Given the description of an element on the screen output the (x, y) to click on. 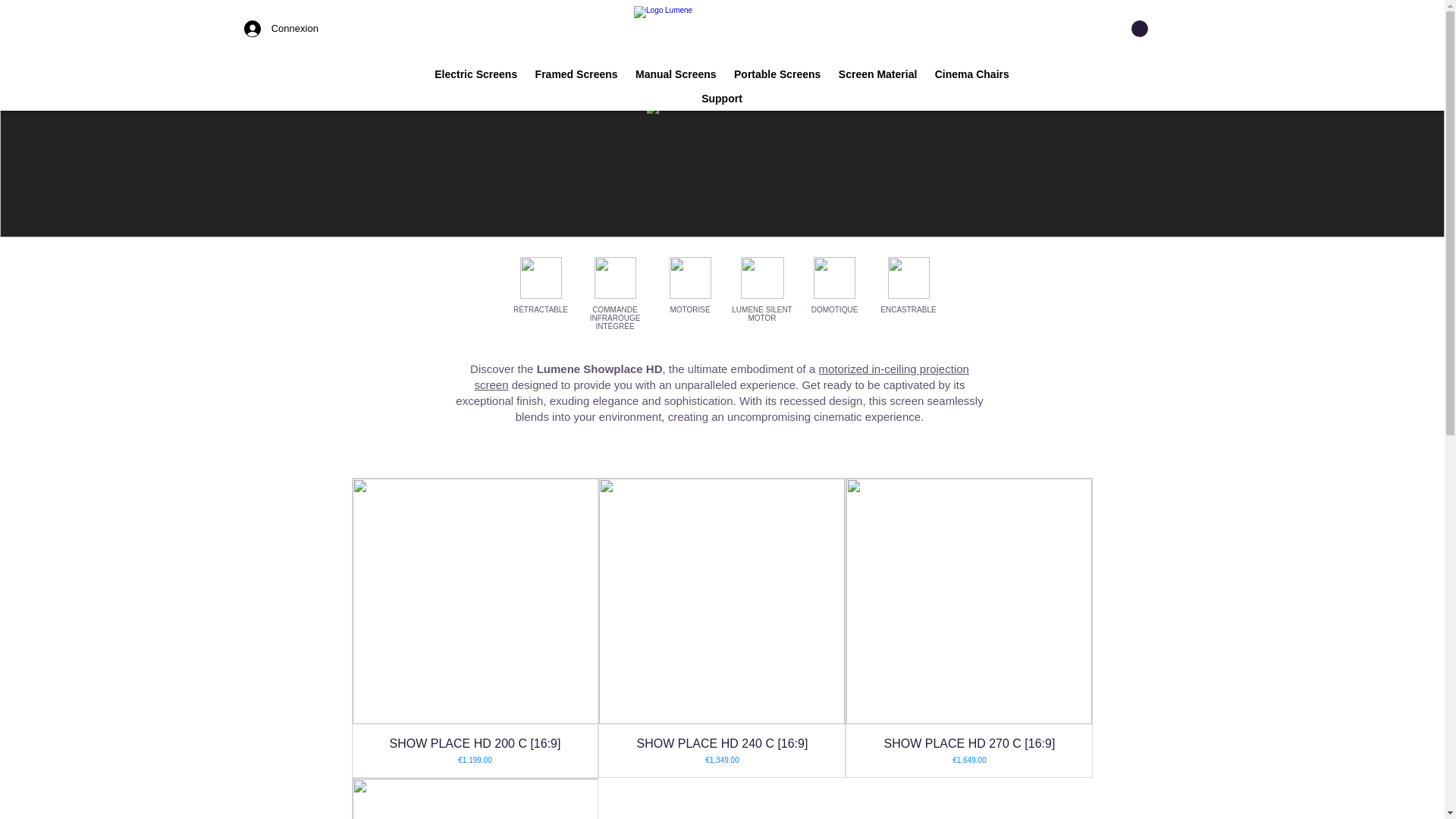
Connexion (247, 28)
